Given the description of an element on the screen output the (x, y) to click on. 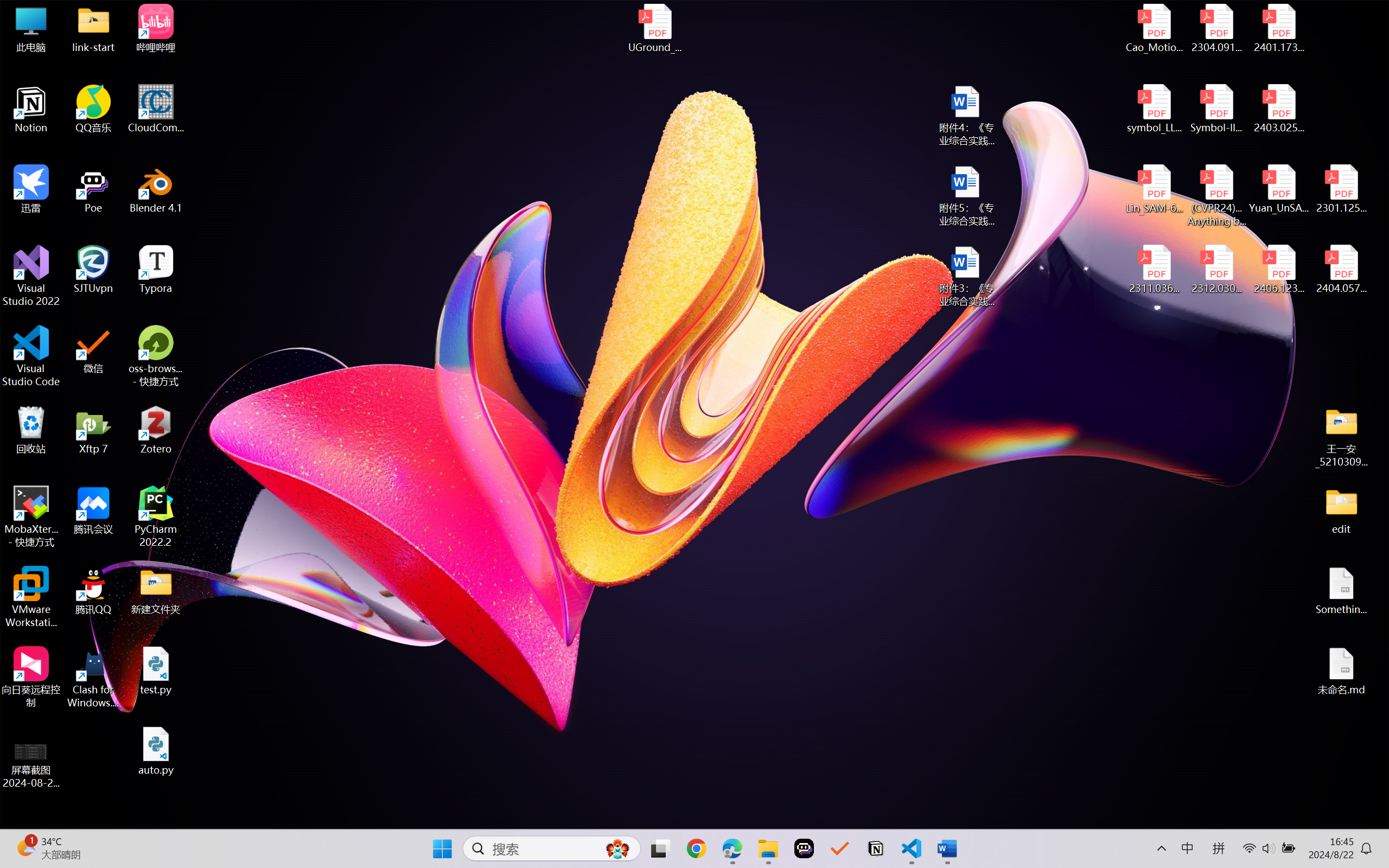
Visual Studio 2022 (31, 276)
Symbol-llm-v2.pdf (1216, 109)
CloudCompare (156, 109)
